Given the description of an element on the screen output the (x, y) to click on. 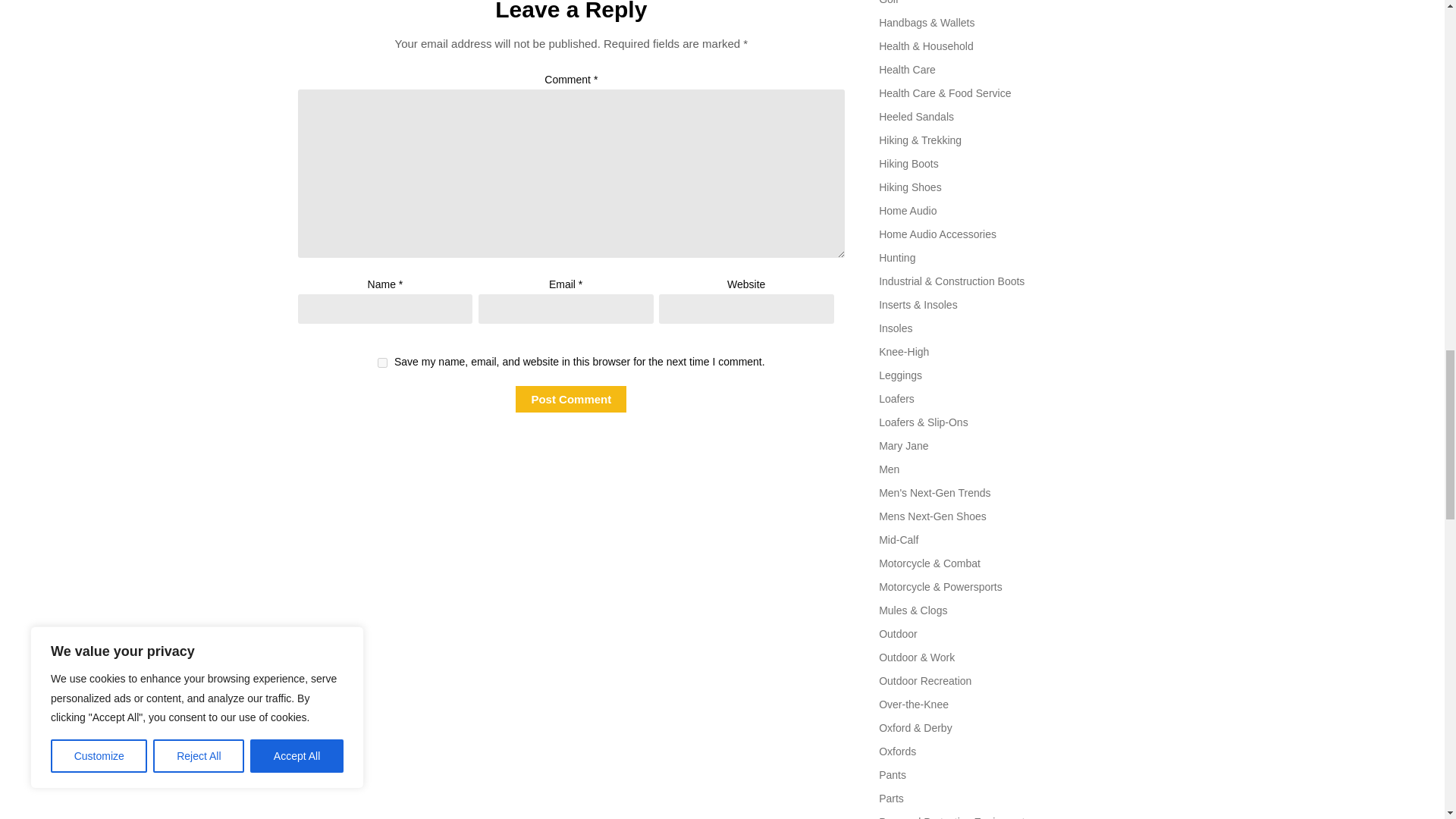
Post Comment (570, 398)
yes (382, 362)
Post Comment (570, 398)
